Given the description of an element on the screen output the (x, y) to click on. 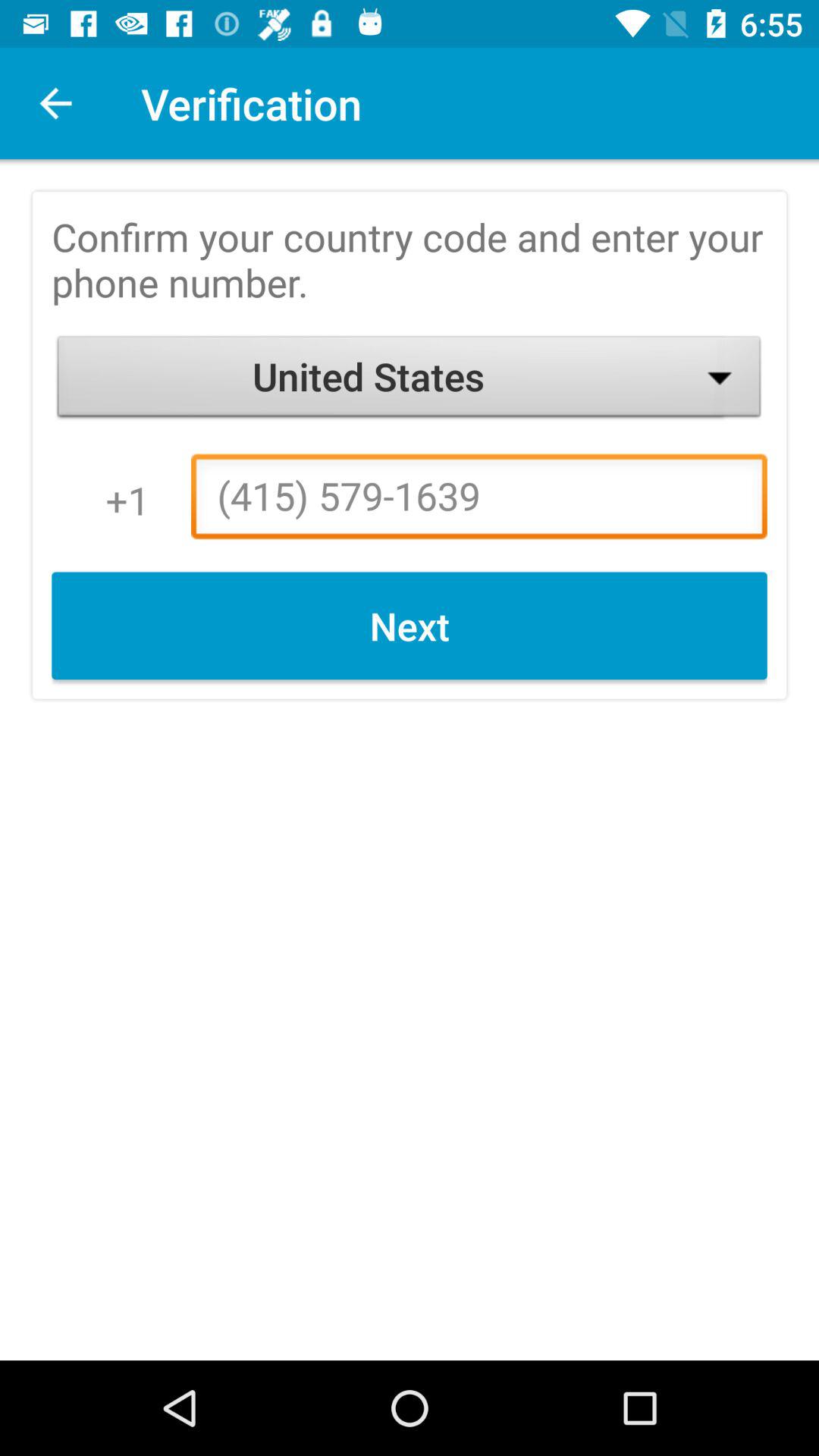
tap the icon below the confirm your country item (409, 380)
